Given the description of an element on the screen output the (x, y) to click on. 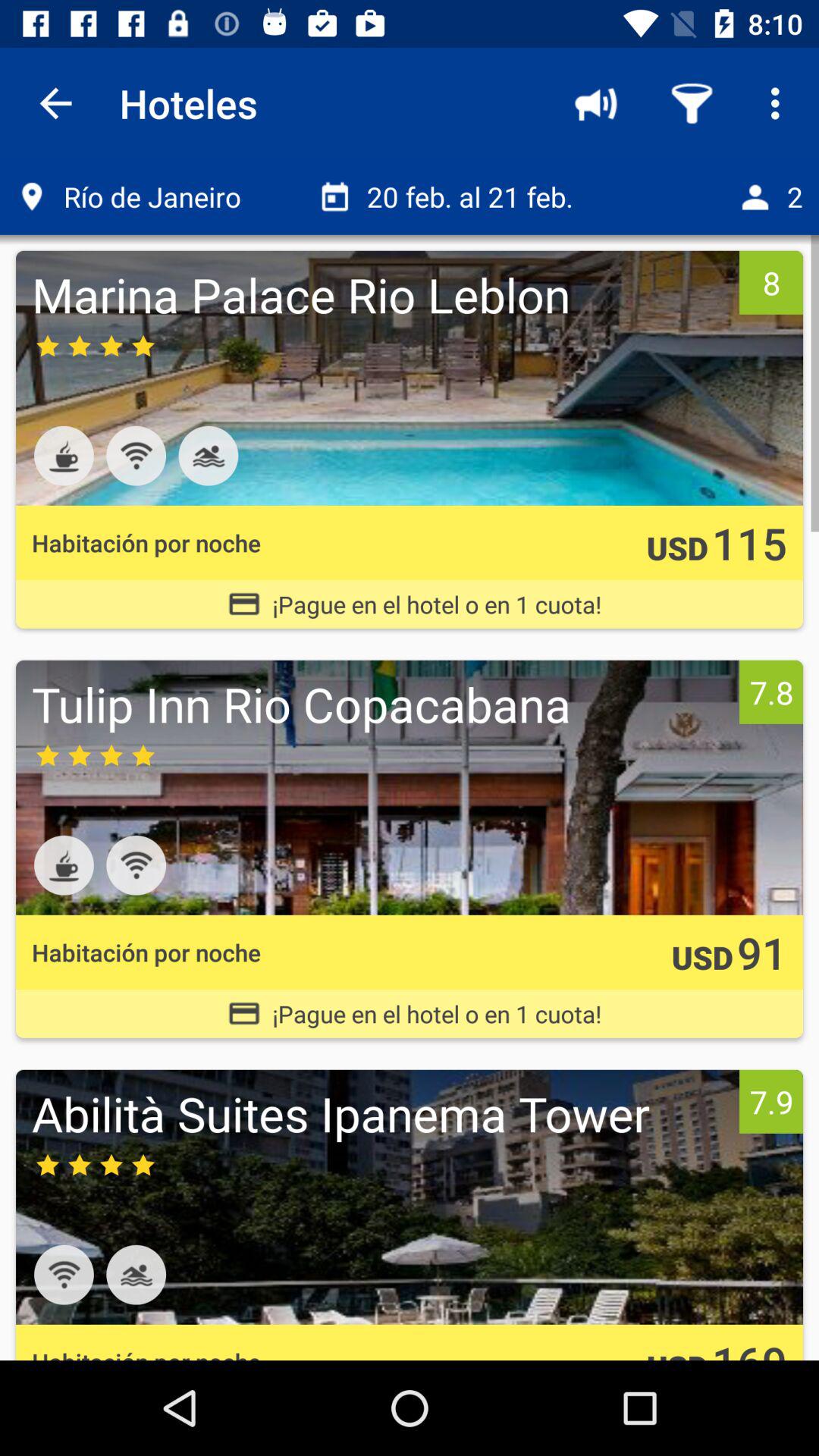
turn on the tulip inn rio icon (381, 703)
